Given the description of an element on the screen output the (x, y) to click on. 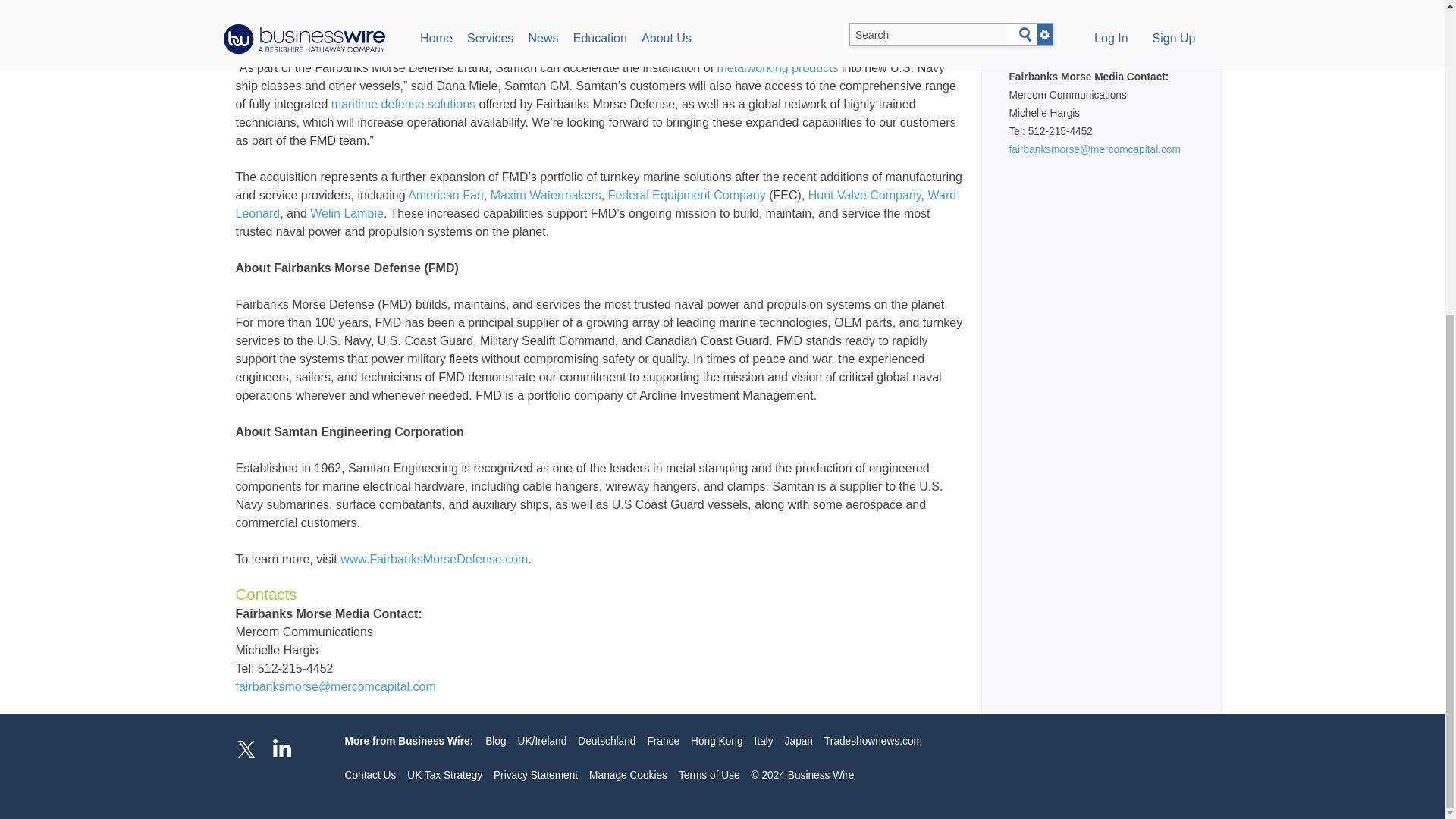
marine pipe clamps and hangers (474, 31)
deep drawings (539, 12)
maritime defense solutions (403, 103)
marine banded cable hangers (667, 12)
RSS feed for Fairbanks Morse (1112, 21)
Ward Leonard (595, 204)
American Fan (445, 195)
Federal Equipment Company (686, 195)
Hunt Valve Company (864, 195)
www.FairbanksMorseDefense.com (433, 558)
marine tapped cable hangers (832, 12)
Welin Lambie (347, 213)
assembly capabilities (473, 0)
metalworking products (777, 67)
marine main wireway hangers (594, 21)
